Given the description of an element on the screen output the (x, y) to click on. 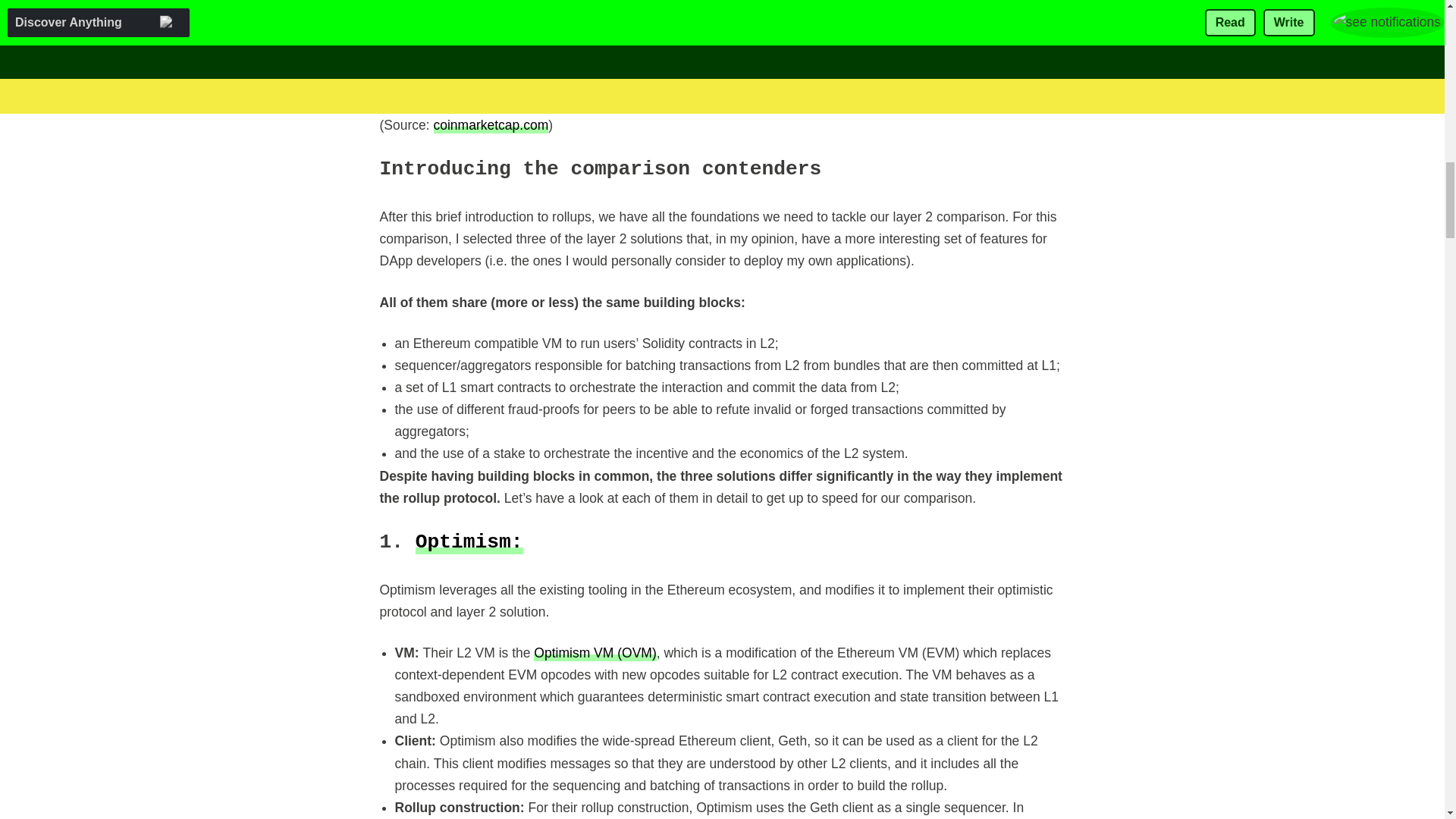
Optimism: (468, 541)
coinmarketcap.com (490, 124)
